Given the description of an element on the screen output the (x, y) to click on. 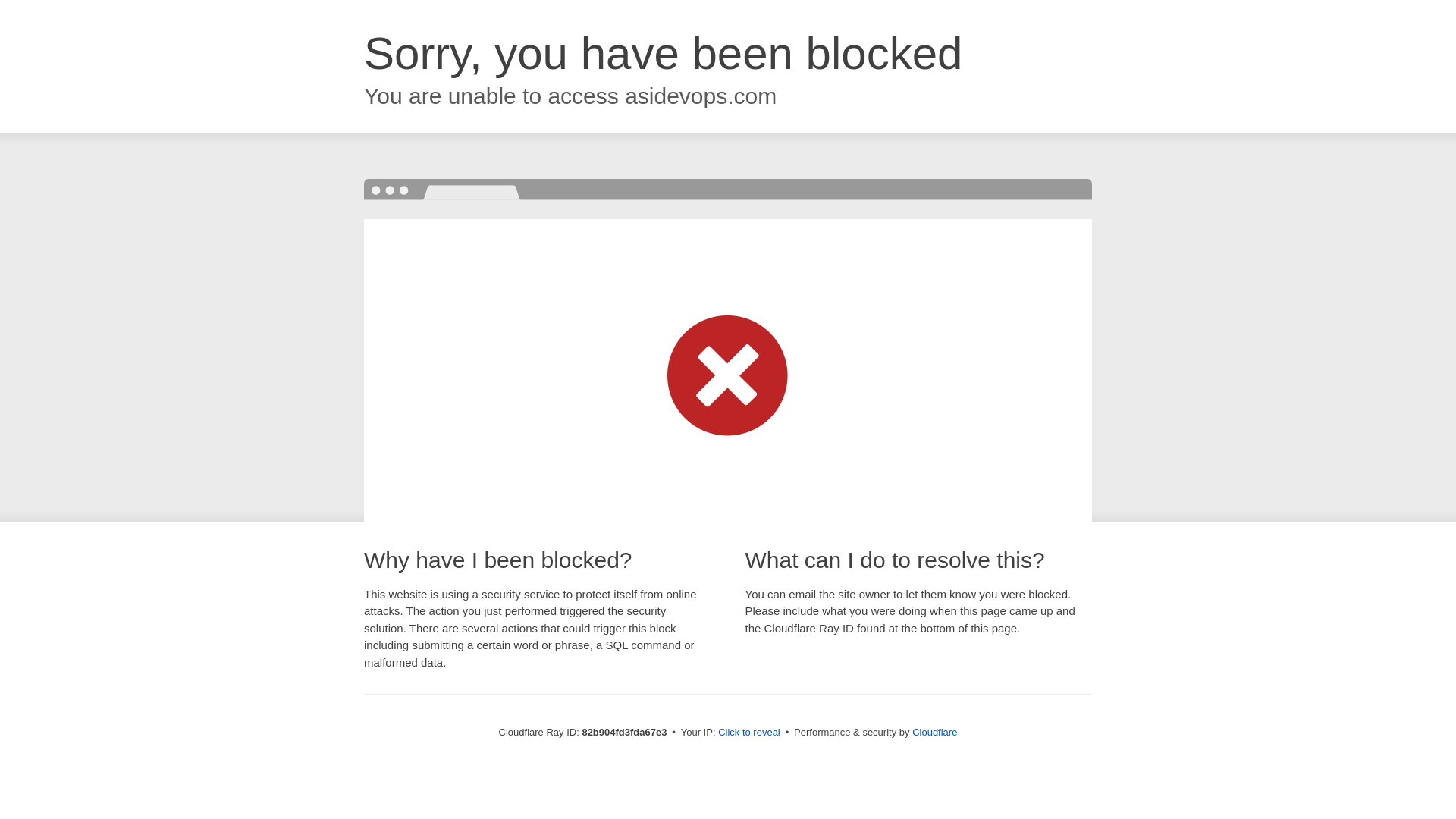
Cloudflare Element type: text (934, 731)
Click to reveal Element type: text (749, 732)
